Given the description of an element on the screen output the (x, y) to click on. 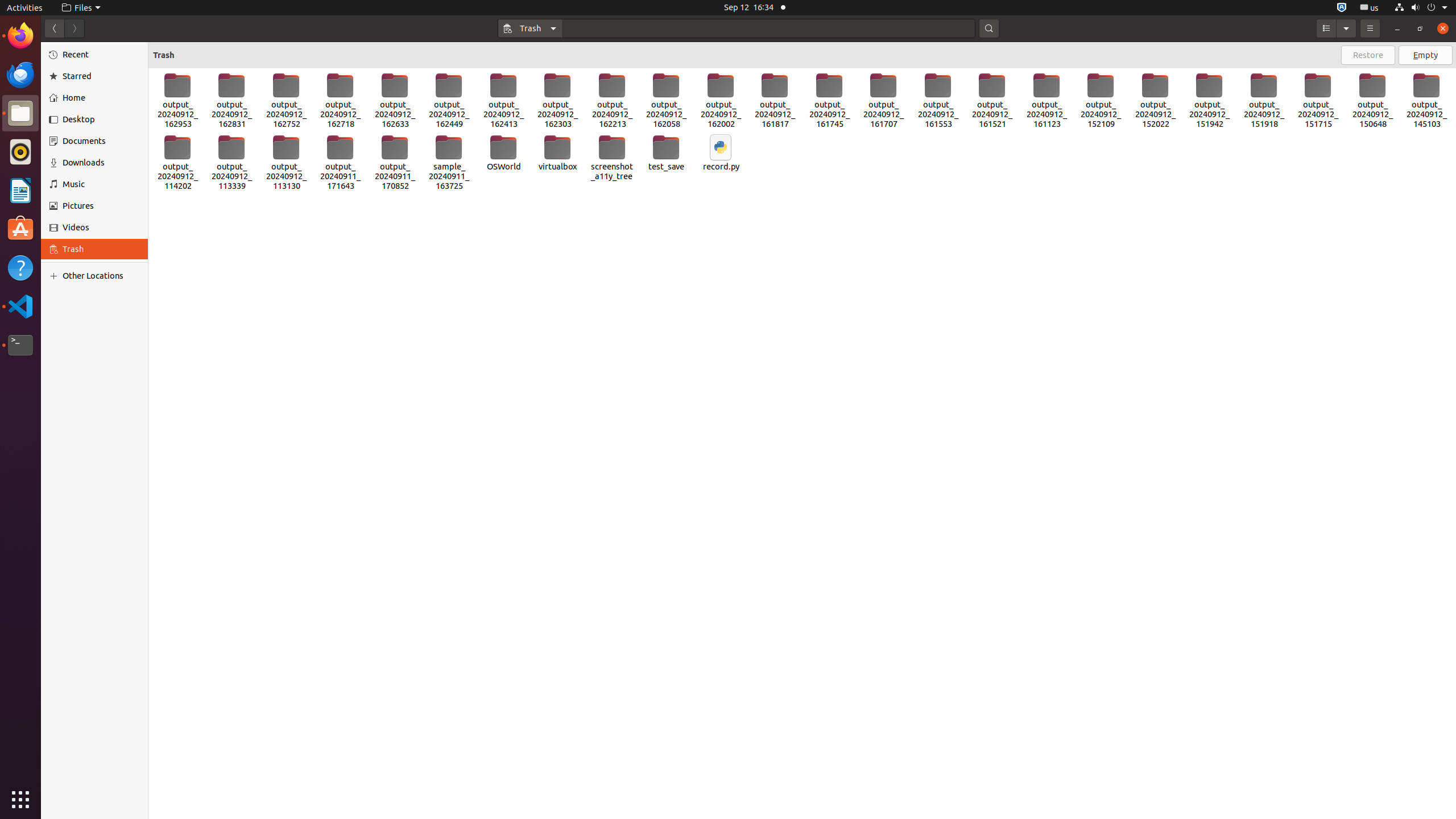
output_20240912_162831 Element type: canvas (231, 100)
Trash Element type: label (75, 108)
IsaHelpMain.desktop Element type: label (75, 170)
Videos Element type: label (100, 227)
